Given the description of an element on the screen output the (x, y) to click on. 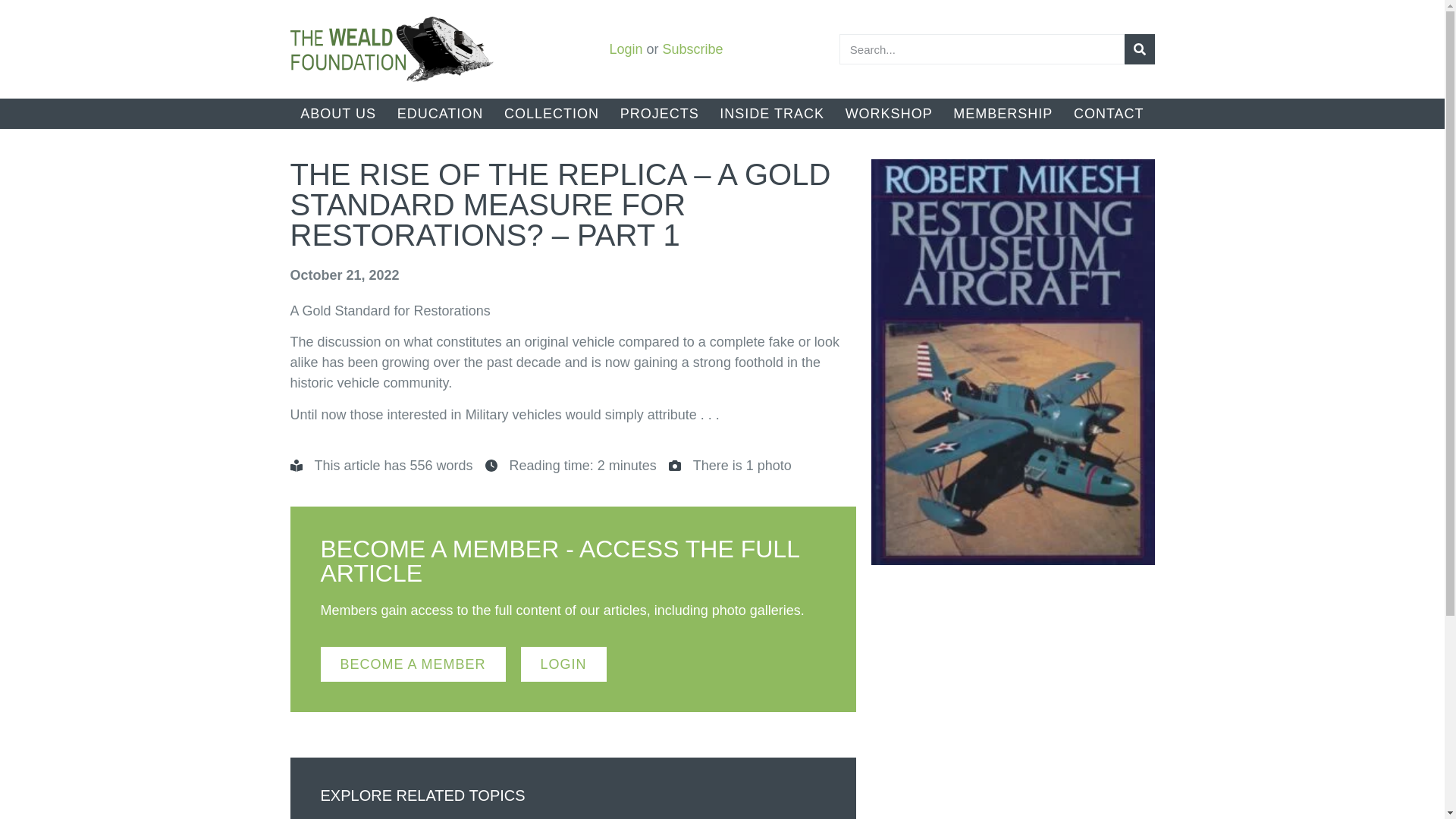
MEMBERSHIP (1002, 113)
COLLECTION (551, 113)
INSIDE TRACK (771, 113)
ABOUT US (337, 113)
WORKSHOP (888, 113)
Subscribe (692, 48)
CONTACT (1108, 113)
EDUCATION (440, 113)
PROJECTS (660, 113)
Login (625, 48)
